Given the description of an element on the screen output the (x, y) to click on. 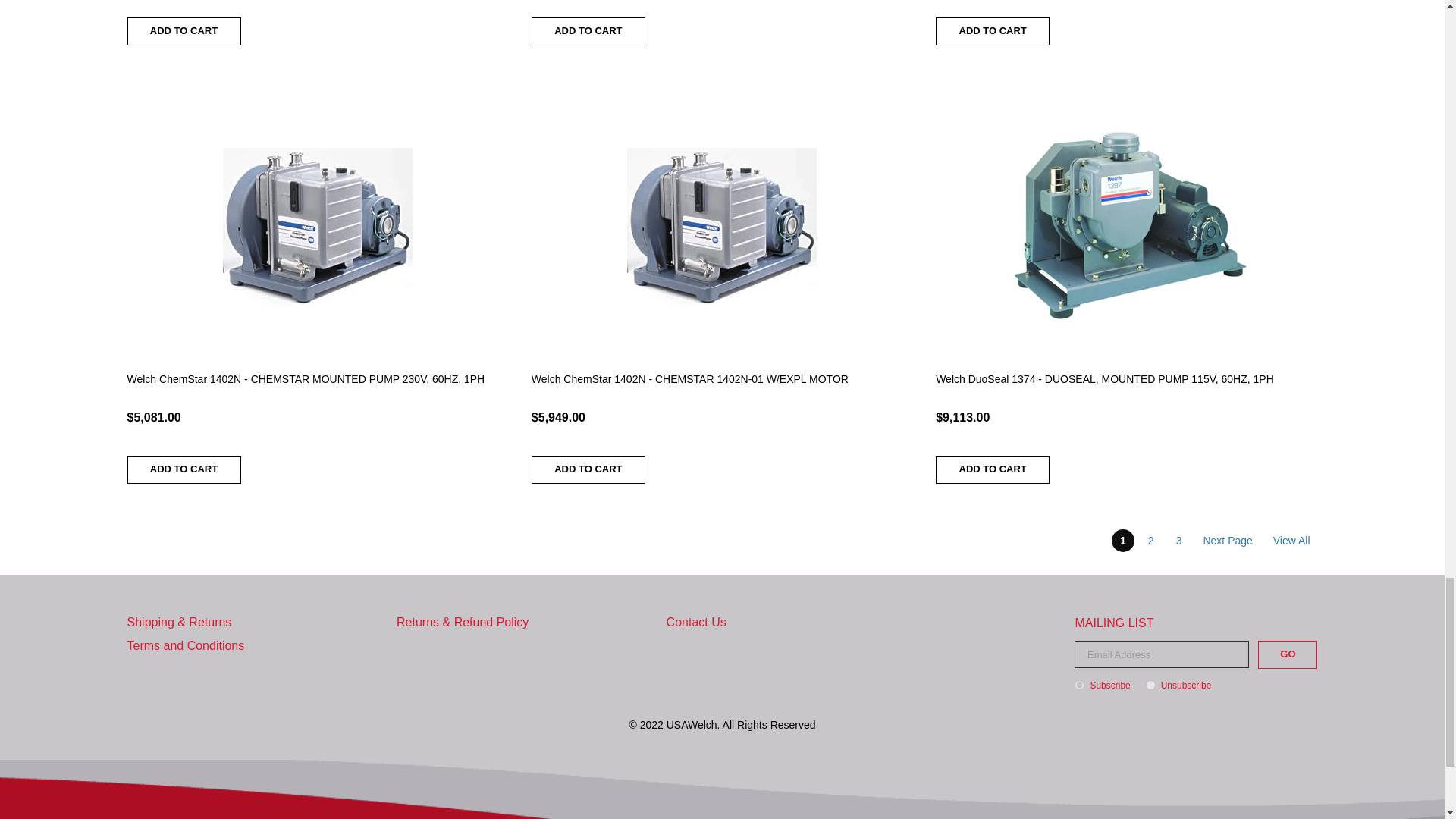
0 (1150, 685)
1 (1079, 685)
